Given the description of an element on the screen output the (x, y) to click on. 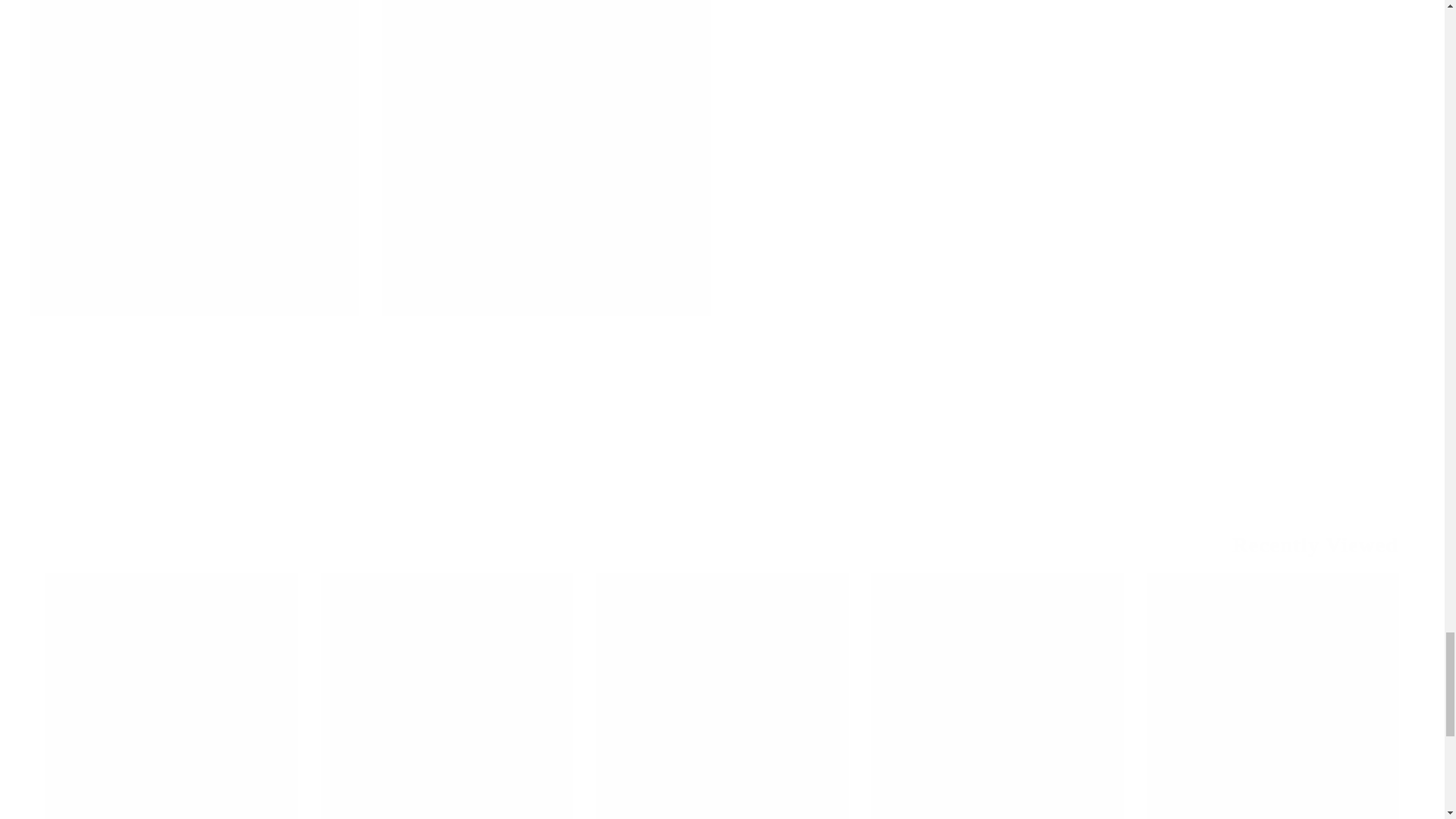
Recently Viewed (1239, 544)
